Given the description of an element on the screen output the (x, y) to click on. 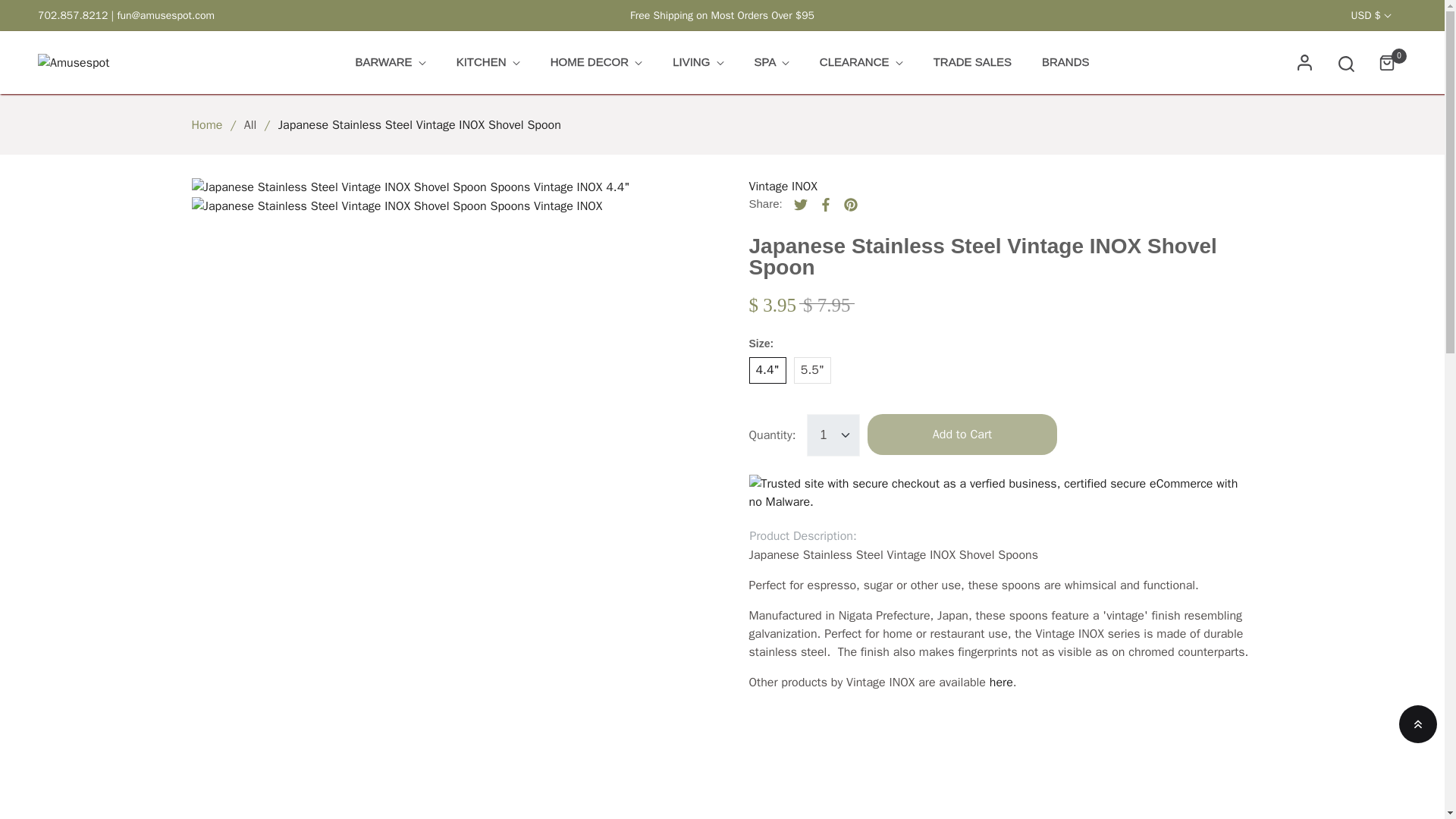
BARWARE (390, 61)
